Given the description of an element on the screen output the (x, y) to click on. 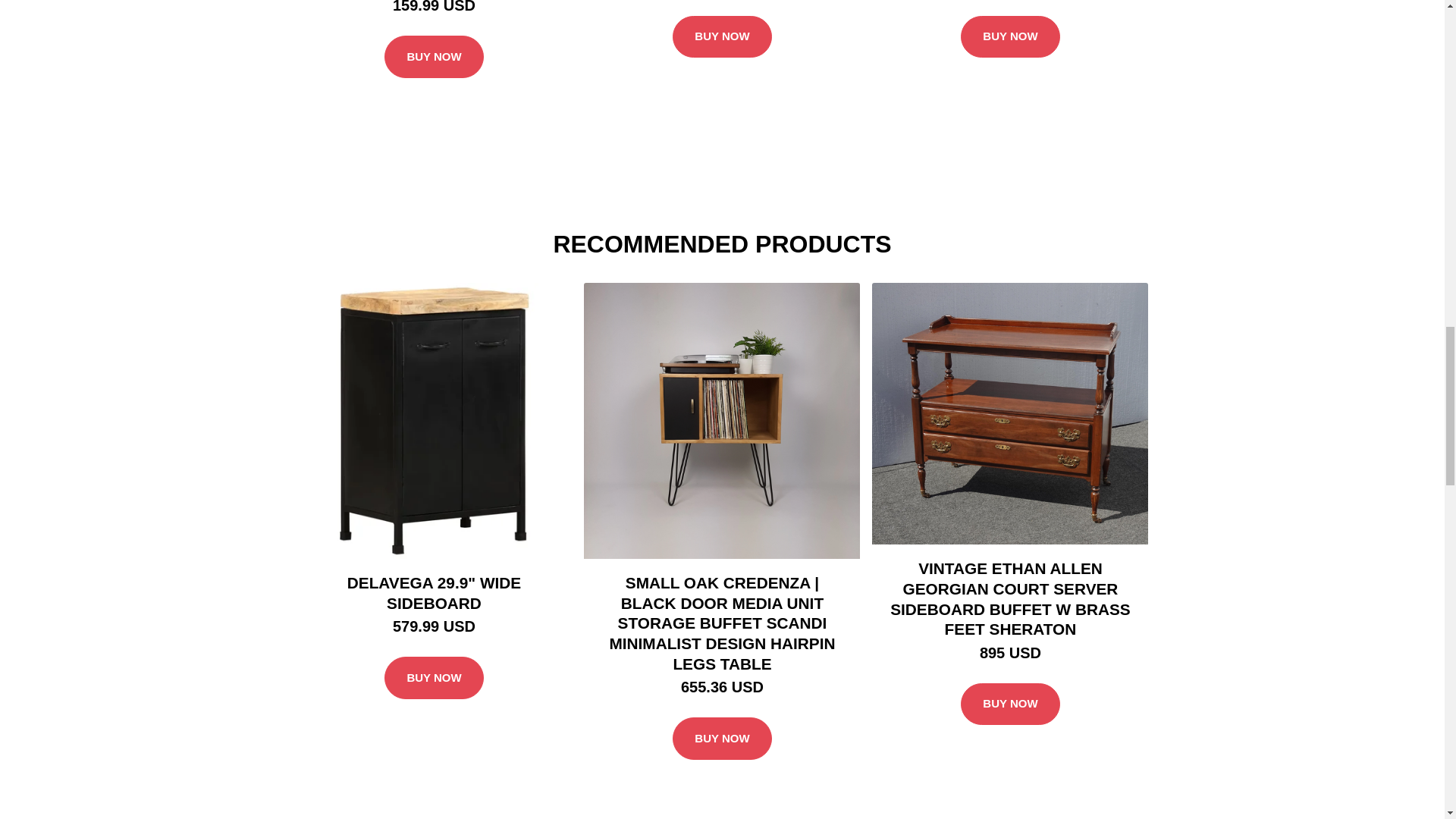
BUY NOW (433, 56)
BUY NOW (1009, 704)
DELAVEGA 29.9" WIDE SIDEBOARD (434, 592)
BUY NOW (433, 677)
BUY NOW (1009, 36)
BUY NOW (721, 36)
BUY NOW (721, 738)
